Given the description of an element on the screen output the (x, y) to click on. 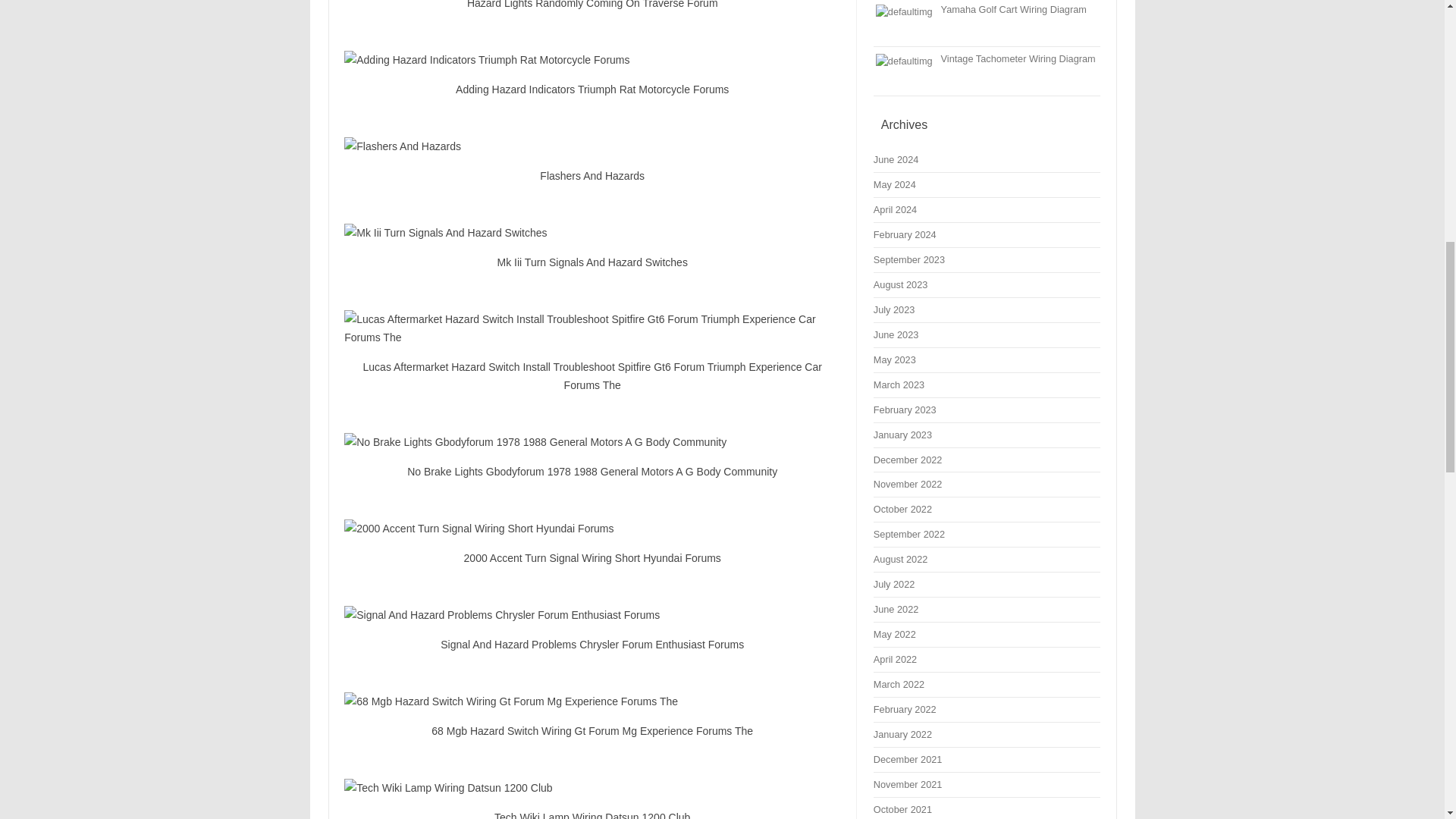
June 2024 (895, 159)
Tech Wiki Lamp Wiring Datsun 1200 Club (591, 787)
Adding Hazard Indicators Triumph Rat Motorcycle Forums (591, 59)
May 2024 (894, 184)
2000 Accent Turn Signal Wiring Short Hyundai Forums (591, 528)
Signal And Hazard Problems Chrysler Forum Enthusiast Forums (591, 615)
February 2024 (904, 234)
Yamaha Golf Cart Wiring Diagram (1013, 9)
September 2023 (908, 259)
